Given the description of an element on the screen output the (x, y) to click on. 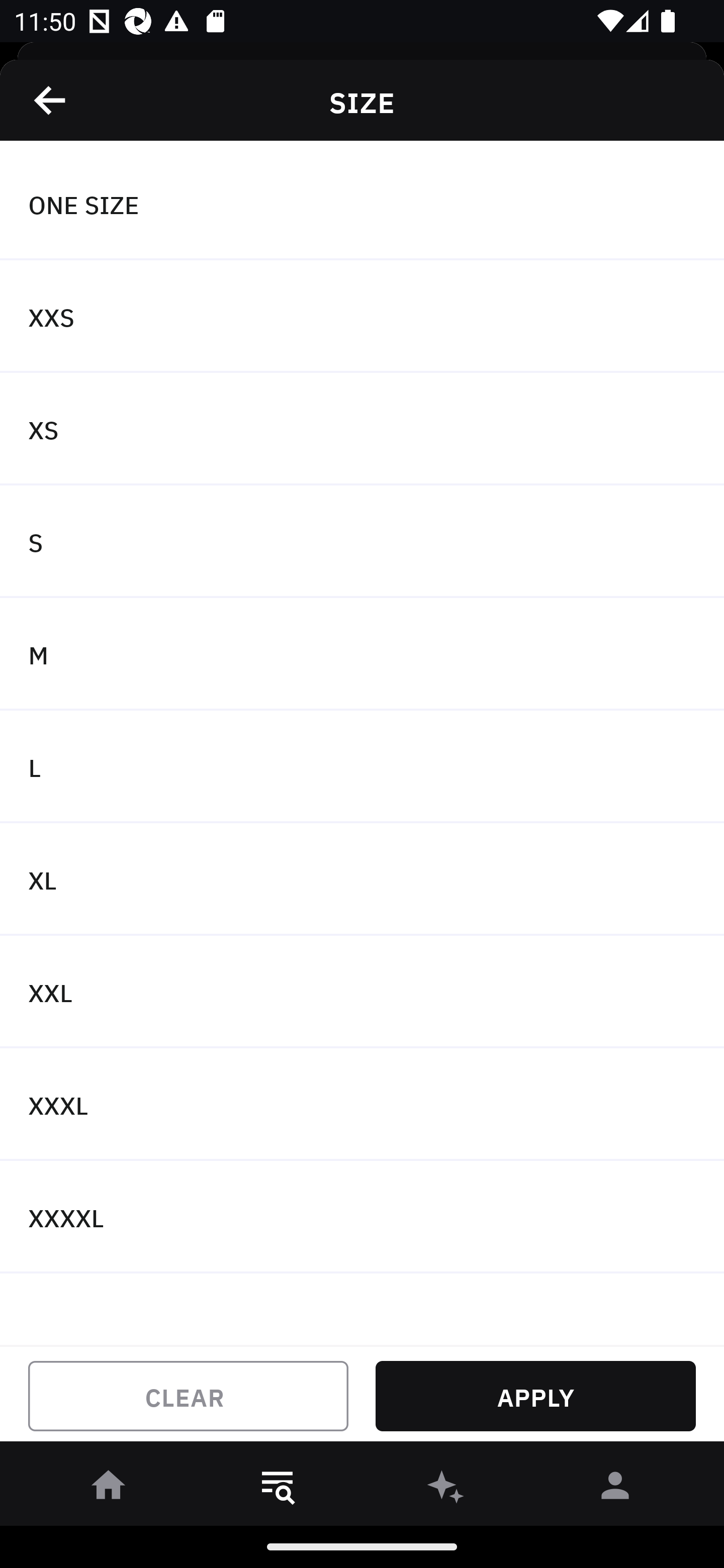
 (50, 100)
ONE SIZE (362, 203)
XXS (362, 316)
XS (362, 429)
S (362, 541)
M (362, 653)
L (362, 766)
XL (362, 879)
XXL (362, 992)
XXXL (362, 1104)
XXXXL (362, 1216)
CLEAR  (188, 1396)
APPLY (535, 1396)
󰋜 (108, 1488)
󱎸 (277, 1488)
󰫢 (446, 1488)
󰀄 (615, 1488)
